Given the description of an element on the screen output the (x, y) to click on. 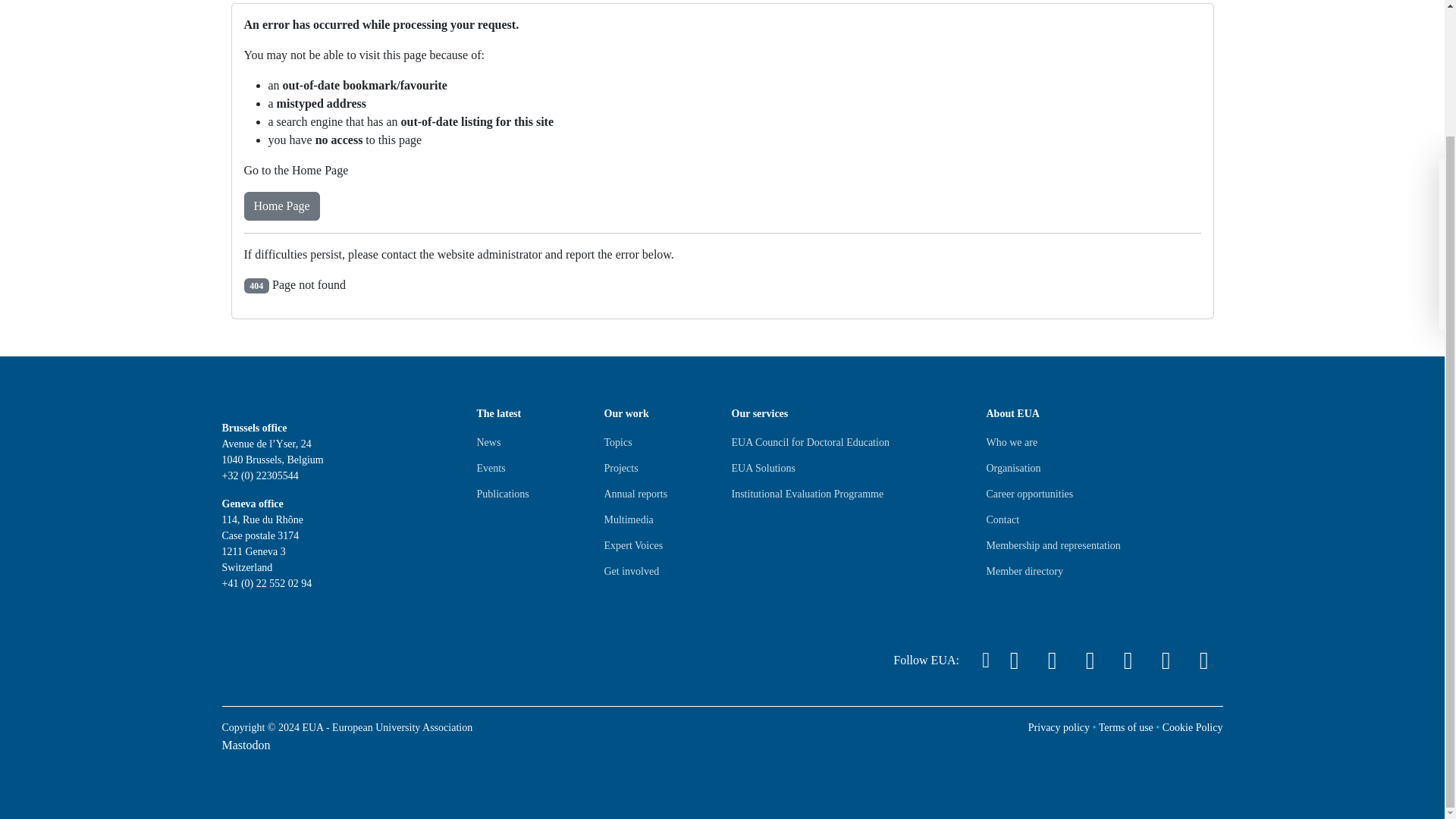
Annual reports (635, 494)
EUA Facebook (1089, 660)
EUA Twitter (1013, 660)
Multimedia (628, 519)
EUA Solutions (762, 468)
News (488, 442)
EUA Council for Doctoral Education (809, 442)
EUA Youtube (1127, 660)
EUA Linkedin (1051, 660)
Topics (617, 442)
EUA Apple Podcasts (1204, 660)
EUA Spotify (1166, 660)
Get involved (631, 571)
Events (490, 468)
Expert Voices (633, 545)
